Given the description of an element on the screen output the (x, y) to click on. 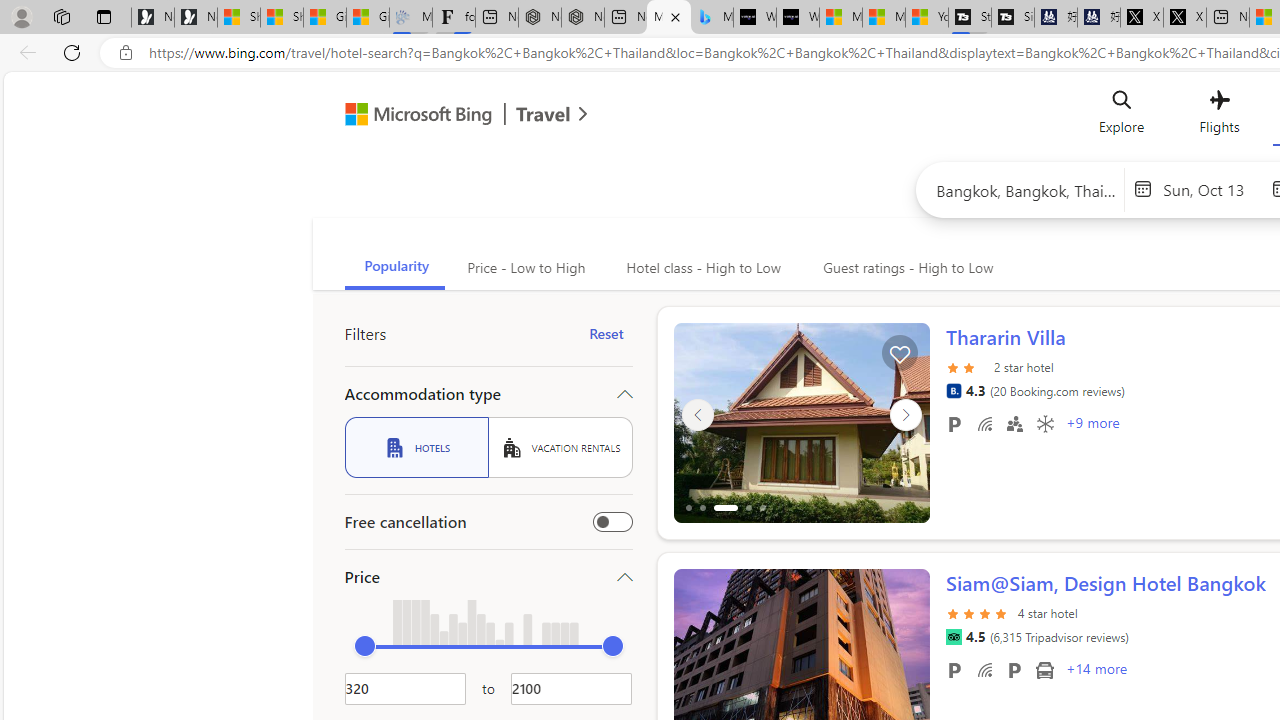
Free WiFi (984, 669)
Guest ratings - High to Low (905, 268)
Free parking (953, 669)
Free cancellation (612, 521)
Class: msft-bing-logo msft-bing-logo-desktop (413, 114)
Flights (1218, 116)
Microsoft Bing Travel (445, 116)
Booking.com (953, 390)
